Given the description of an element on the screen output the (x, y) to click on. 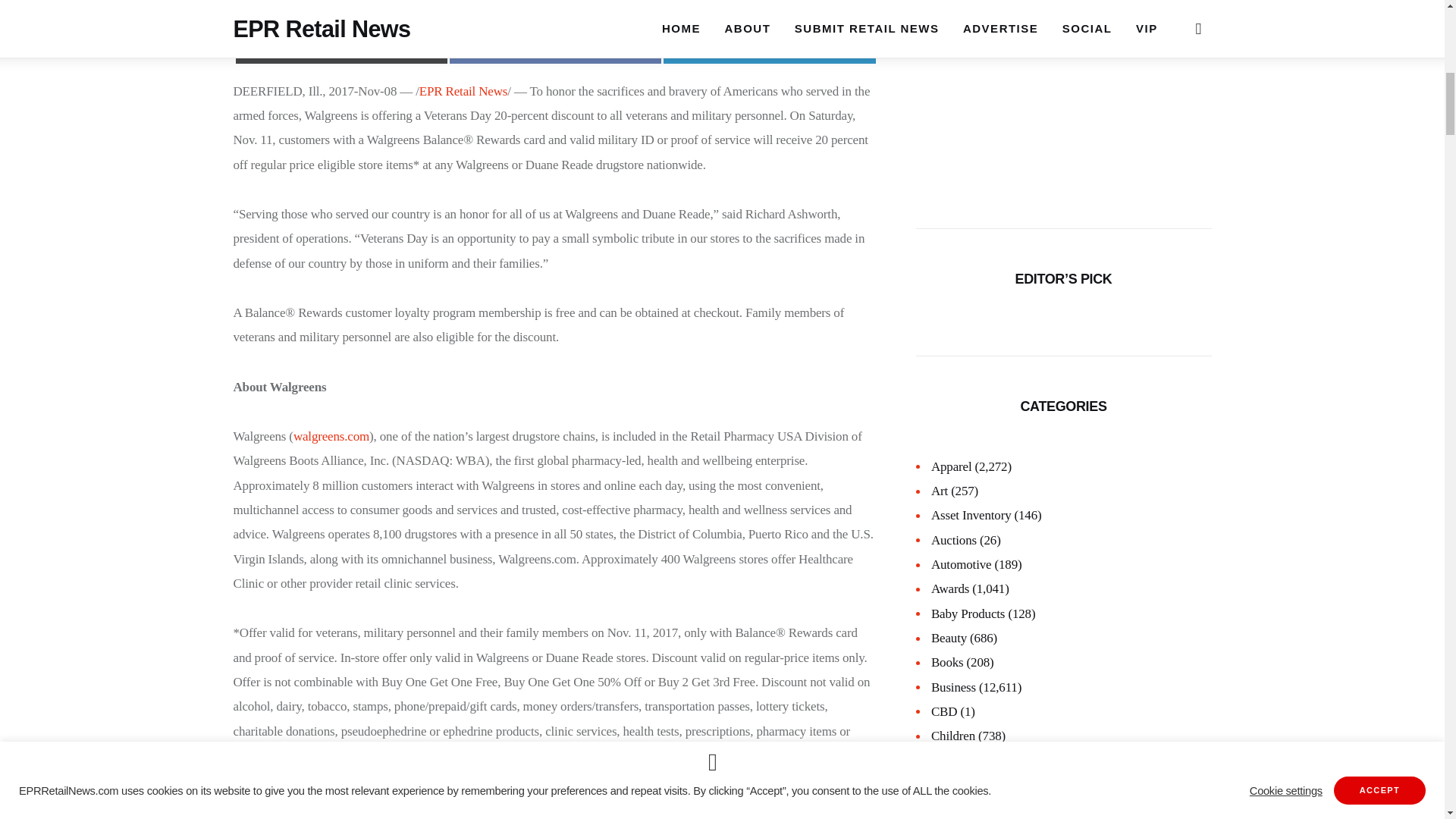
Advertisement (554, 7)
Advertisement (1063, 91)
